Given the description of an element on the screen output the (x, y) to click on. 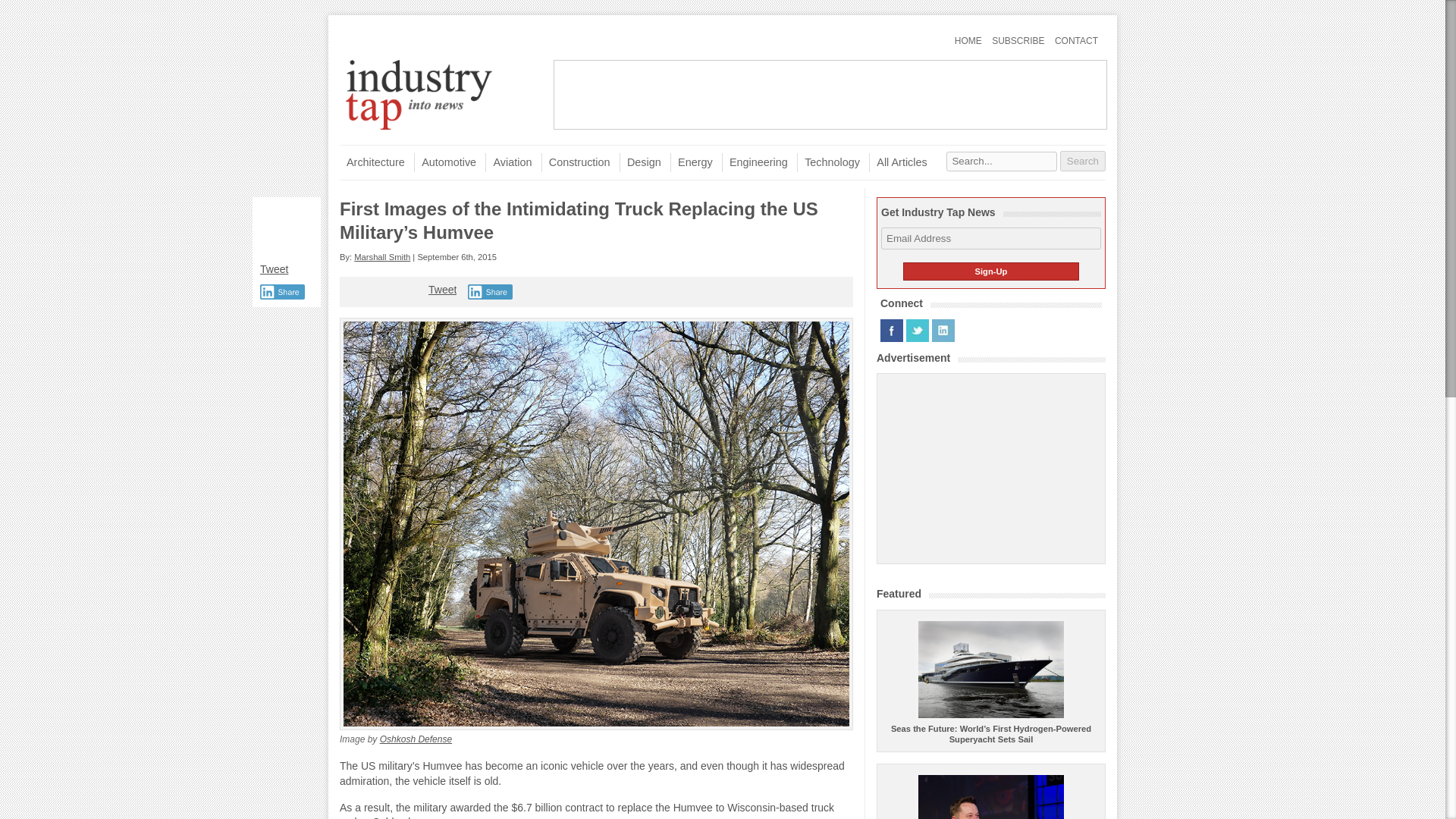
Search (1082, 160)
SUBSCRIBE (1017, 41)
Skip to content (368, 149)
Design (640, 162)
Skip to content (368, 34)
HOME (968, 41)
Skip to content (368, 149)
All Articles (897, 162)
Search (1082, 160)
Sign-Up (990, 271)
Architecture (371, 162)
Tweet (274, 268)
Aviation (507, 162)
Skip to content (368, 34)
Engineering (754, 162)
